Given the description of an element on the screen output the (x, y) to click on. 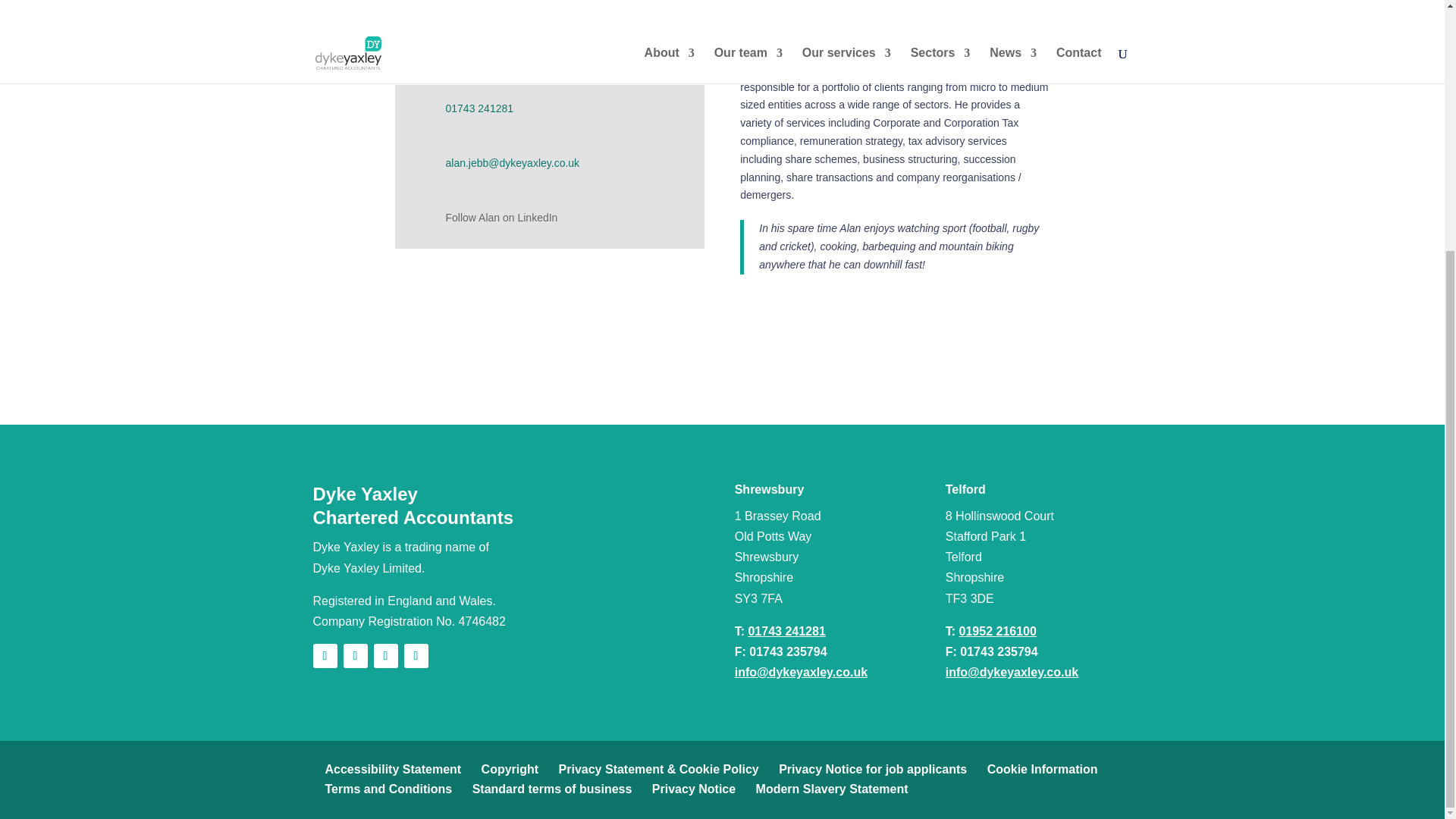
Follow on X (354, 655)
Follow on LinkedIn (384, 655)
Follow on Instagram (415, 655)
Follow on Facebook (324, 655)
